Given the description of an element on the screen output the (x, y) to click on. 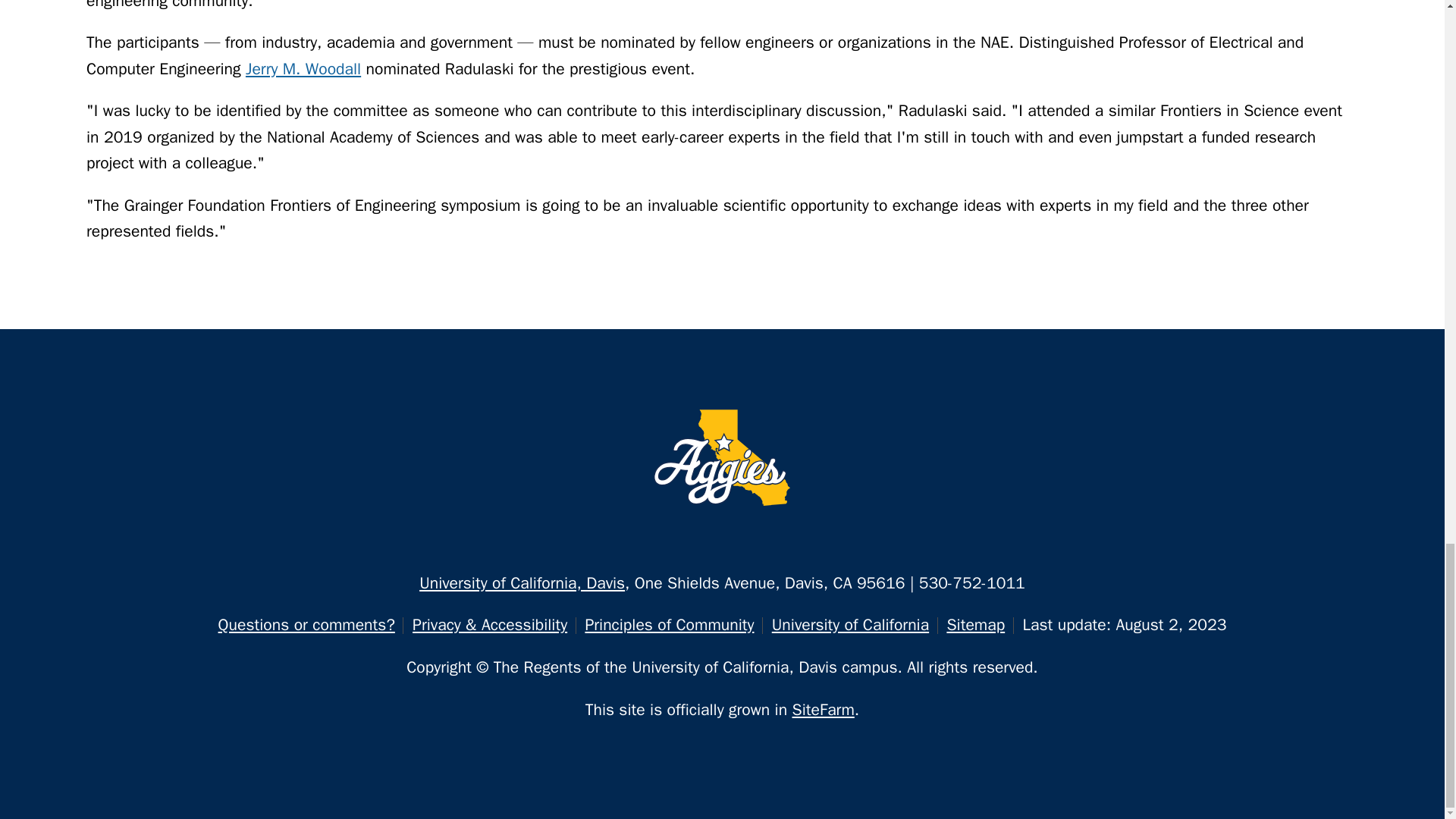
University of California (849, 624)
Jerry M. Woodall (303, 68)
Sitemap (975, 624)
University of California, Davis (521, 582)
SiteFarm (823, 709)
Principles of Community (669, 624)
Questions or comments? (306, 624)
